Given the description of an element on the screen output the (x, y) to click on. 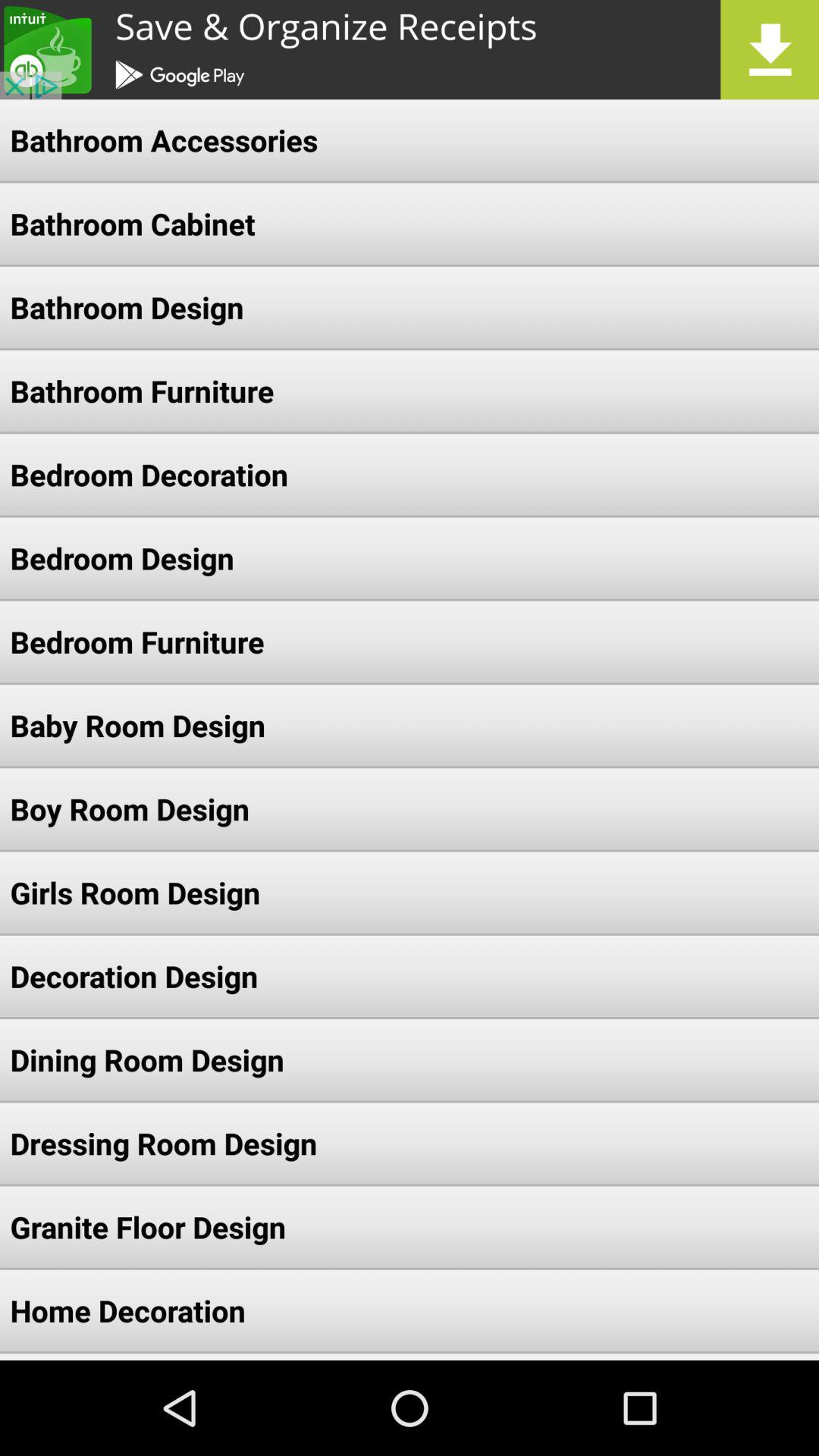
selected advertisement (409, 49)
